Given the description of an element on the screen output the (x, y) to click on. 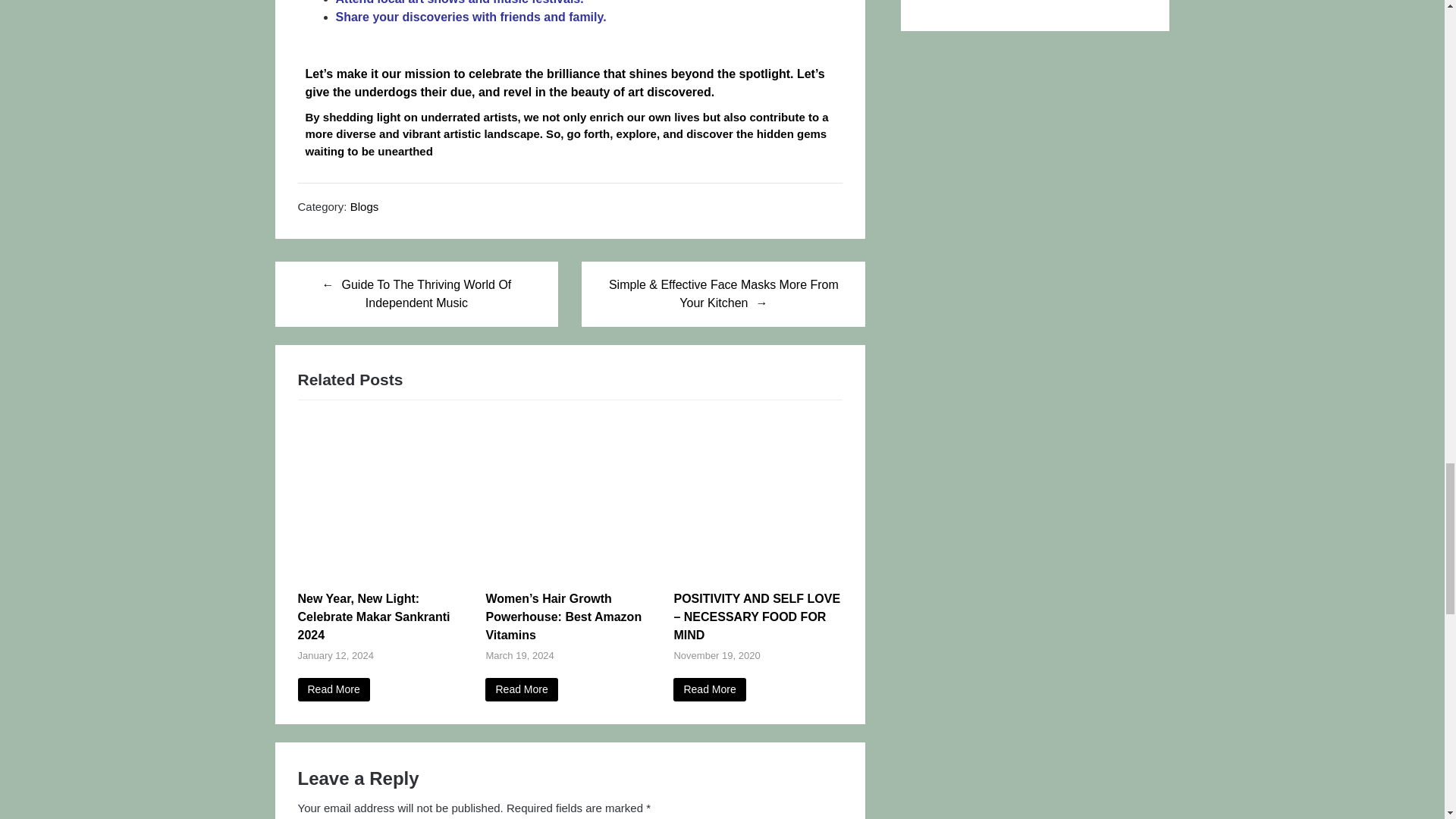
Read More (520, 689)
Read More (708, 689)
Guide To The Thriving World Of Independent Music (416, 293)
Blogs (364, 205)
Read More (333, 689)
New Year, New Light: Celebrate Makar Sankranti 2024 (333, 689)
New Year, New Light: Celebrate Makar Sankranti 2024 (381, 580)
New Year, New Light: Celebrate Makar Sankranti 2024 (373, 616)
